Given the description of an element on the screen output the (x, y) to click on. 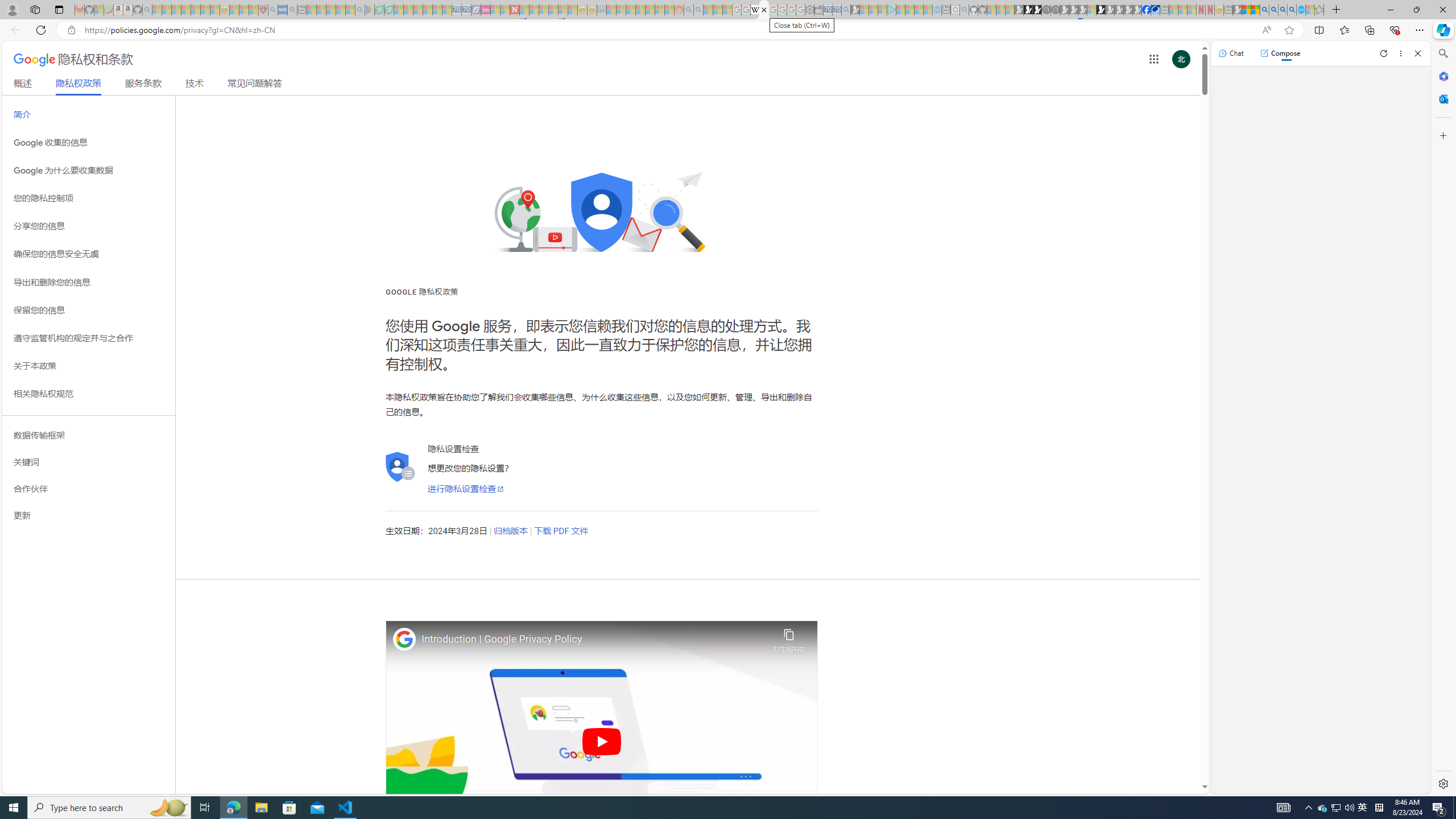
Nordace | Facebook (1146, 9)
Bing Real Estate - Home sales and rental listings - Sleeping (846, 9)
Services - Maintenance | Sky Blue Bikes - Sky Blue Bikes (1300, 9)
